Given the description of an element on the screen output the (x, y) to click on. 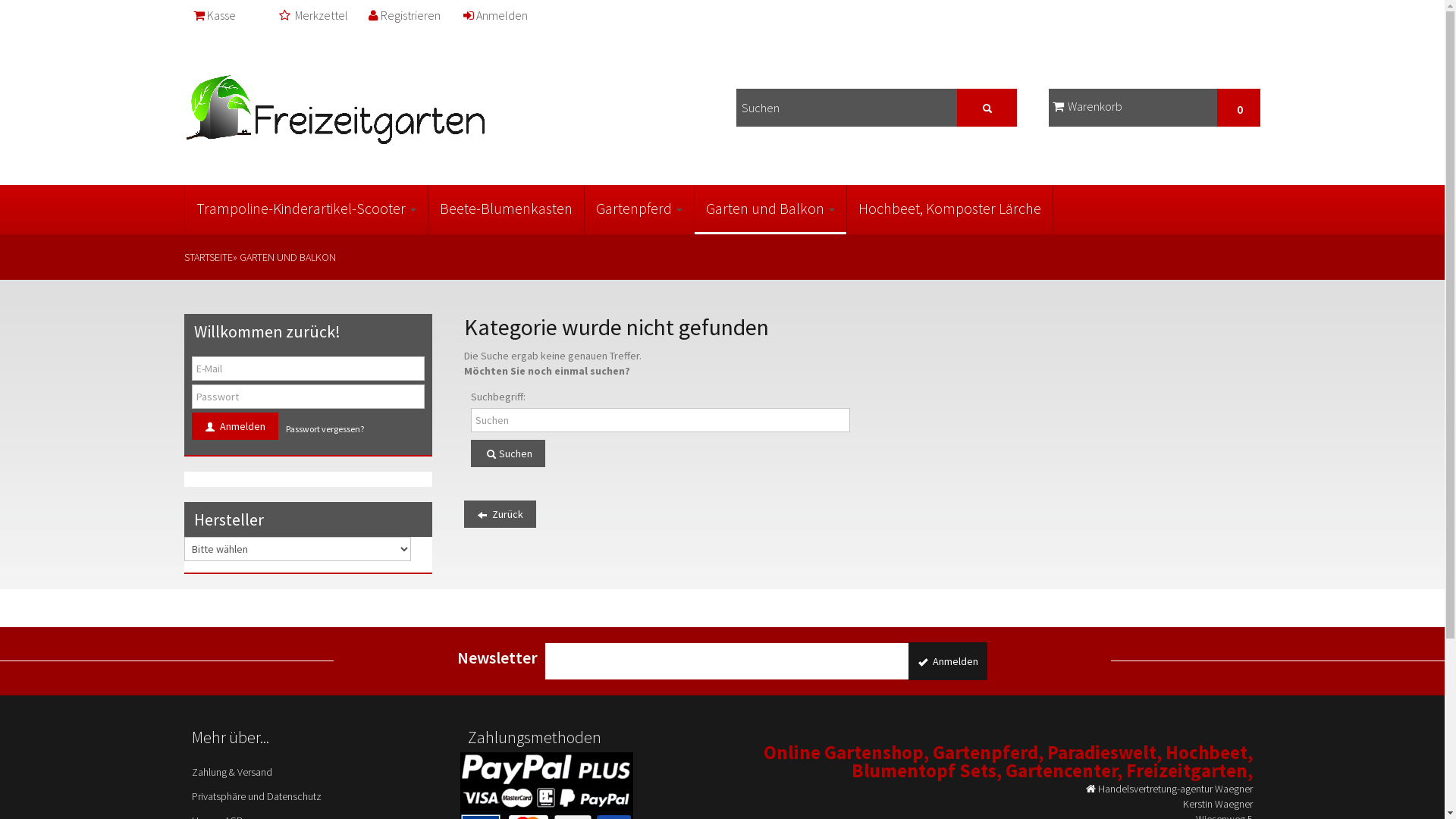
Beete-Blumenkasten Element type: text (505, 209)
Registrieren Element type: text (405, 20)
 Anmelden Element type: text (947, 661)
STARTSEITE Element type: text (207, 256)
Anmelden Element type: text (495, 20)
Gartenpferd Element type: text (638, 209)
Garten und Balkon Element type: text (770, 209)
  Element type: text (986, 107)
Zahlung & Versand Element type: text (307, 772)
Trampoline-Kinderartikel-Scooter Element type: text (306, 209)
 Anmelden Element type: text (234, 425)
Passwort vergessen? Element type: text (323, 428)
Merkzettel Element type: text (314, 20)
Kasse Element type: text (214, 20)
 Suchen Element type: text (507, 453)
